Given the description of an element on the screen output the (x, y) to click on. 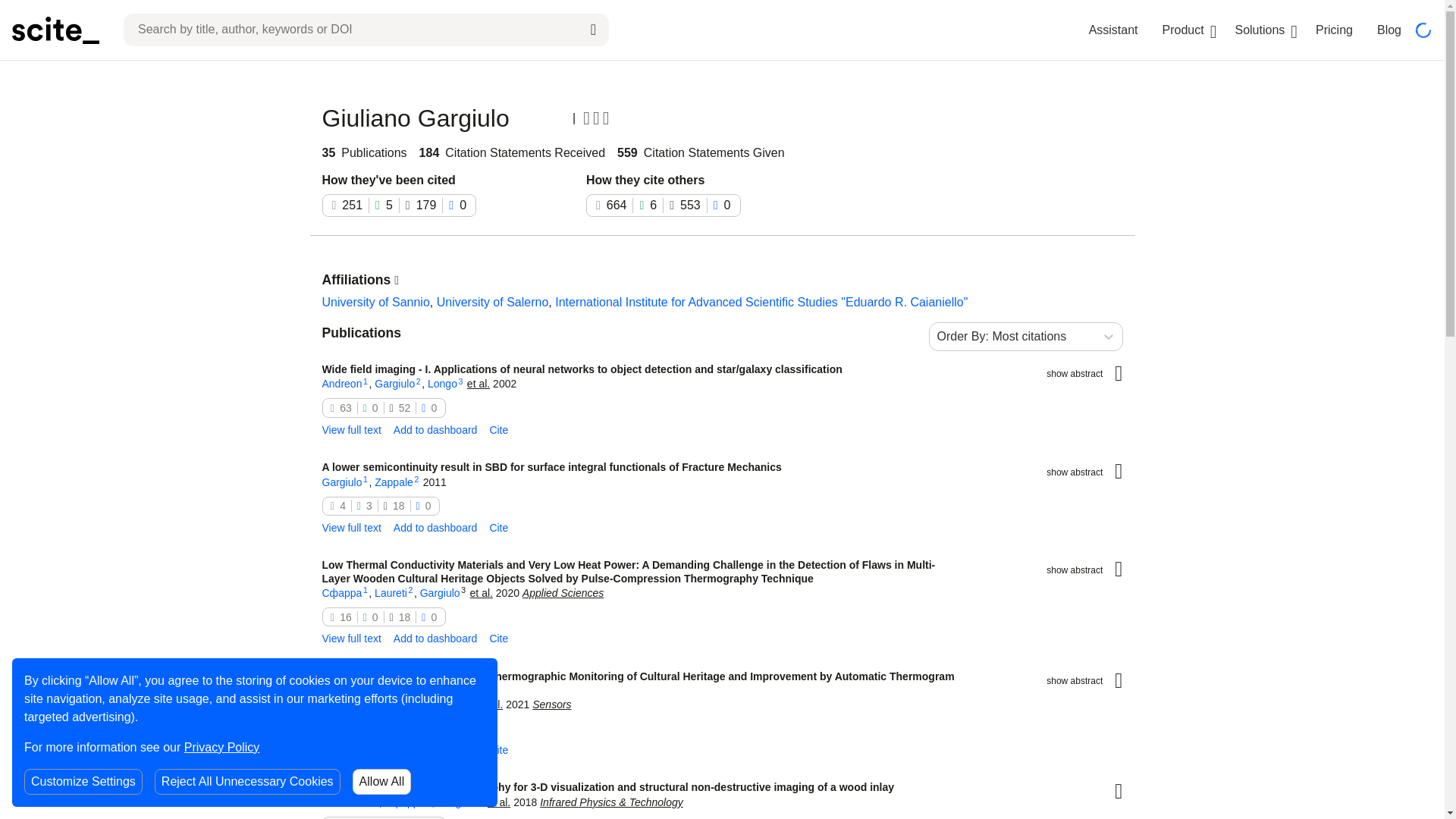
66465530 (663, 205)
Add to dashboard (435, 528)
25151790 (398, 205)
Solutions (1259, 29)
View full text (350, 528)
Pricing (1334, 29)
Assistant (1113, 29)
Product (1182, 29)
Gargiulo (394, 383)
University of Sannio (375, 301)
University of Salerno (492, 301)
Cite (498, 430)
Add to dashboard (435, 430)
Andreon (341, 383)
